Given the description of an element on the screen output the (x, y) to click on. 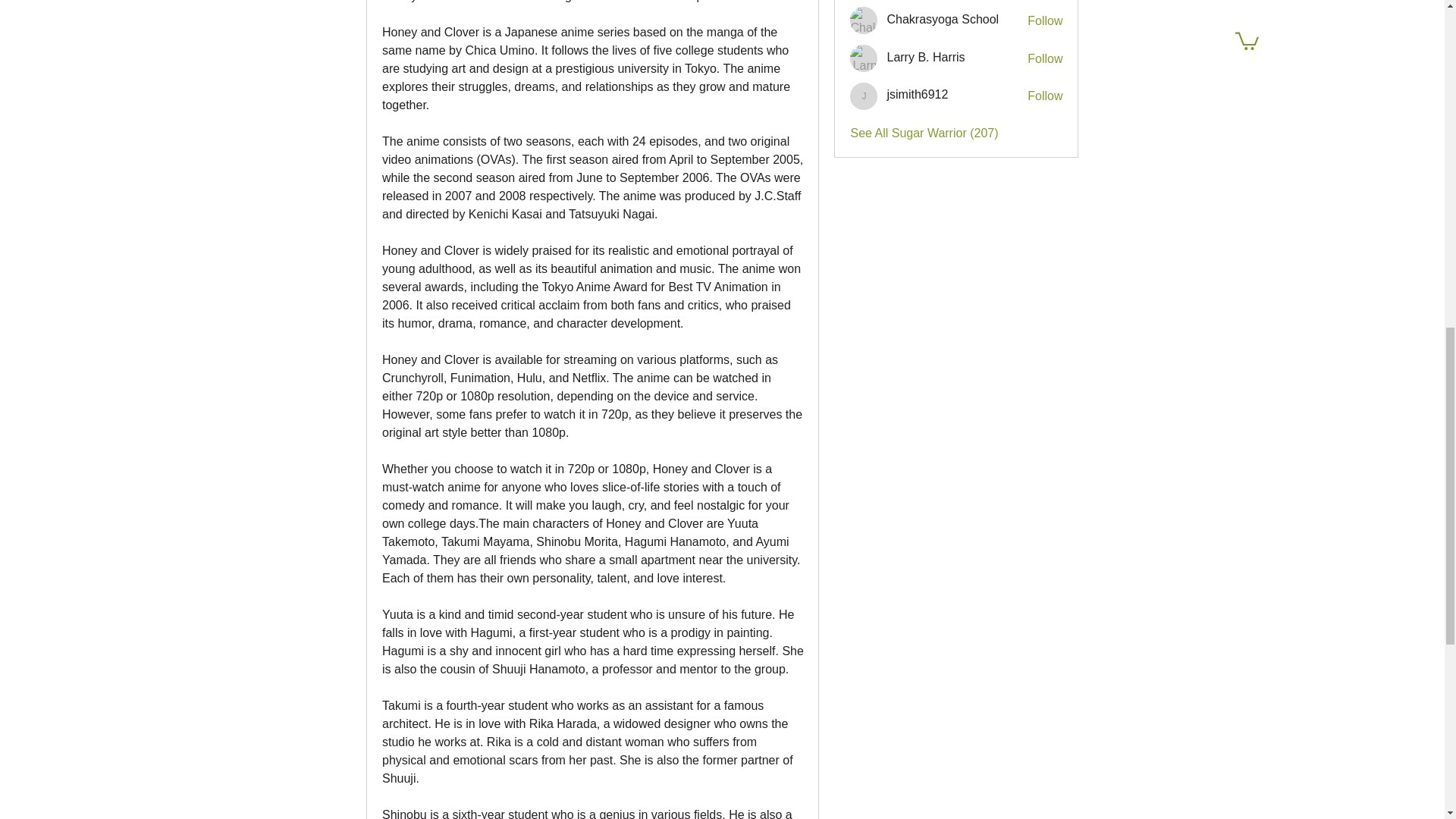
jsimith6912 (863, 95)
Follow (1044, 58)
Follow (1044, 21)
jsimith6912 (916, 93)
Larry B. Harris (863, 58)
Follow (1044, 95)
Chakrasyoga School (863, 20)
